Given the description of an element on the screen output the (x, y) to click on. 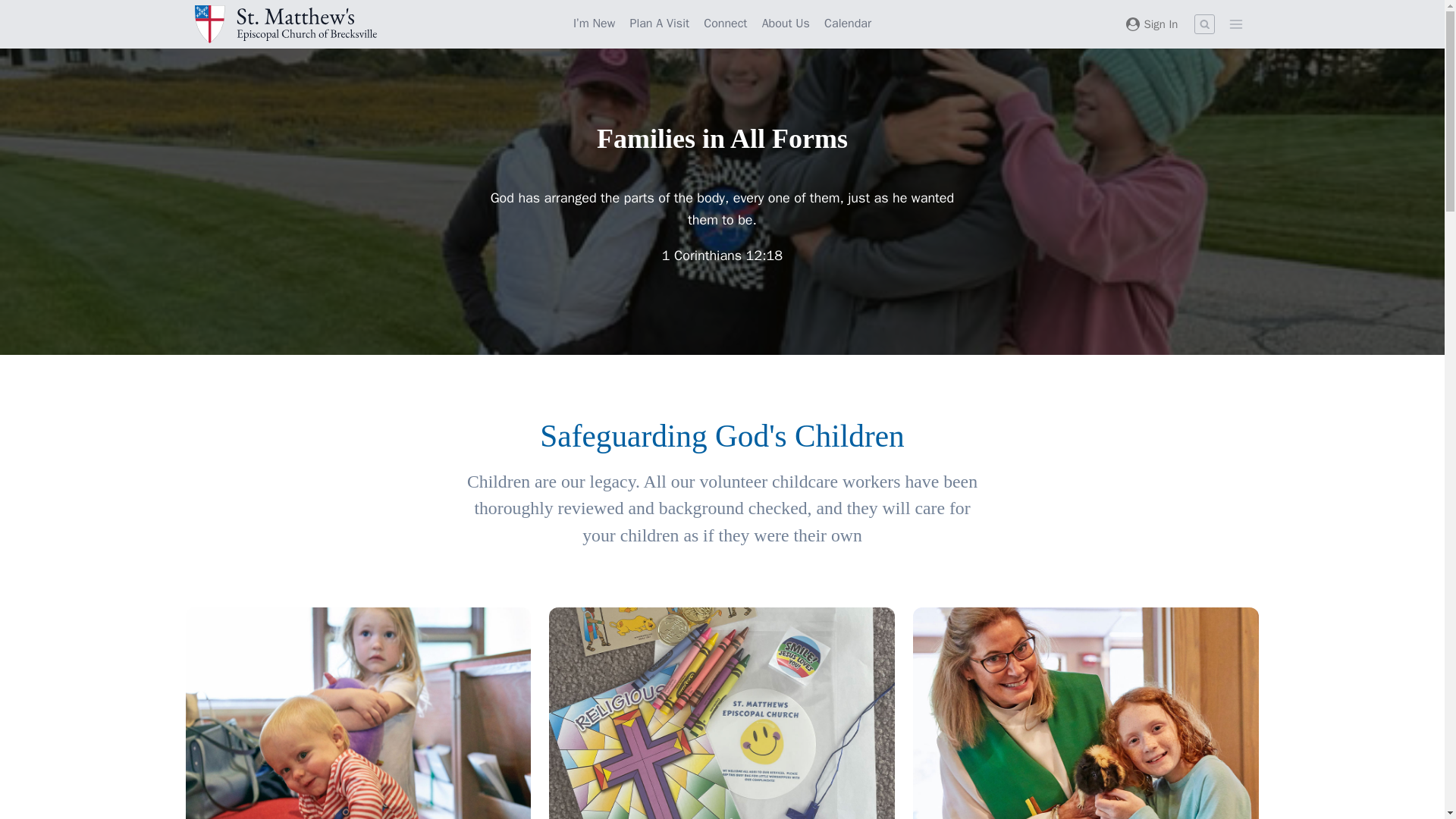
Connect (725, 24)
About Us (785, 24)
Calendar (847, 24)
Plan A Visit (660, 24)
st-matthew-babies-featured-image (357, 713)
Sign In (1151, 24)
st-matthew-kids-featured-image (1085, 713)
st-matthew-preschool-featured-image (721, 713)
